Given the description of an element on the screen output the (x, y) to click on. 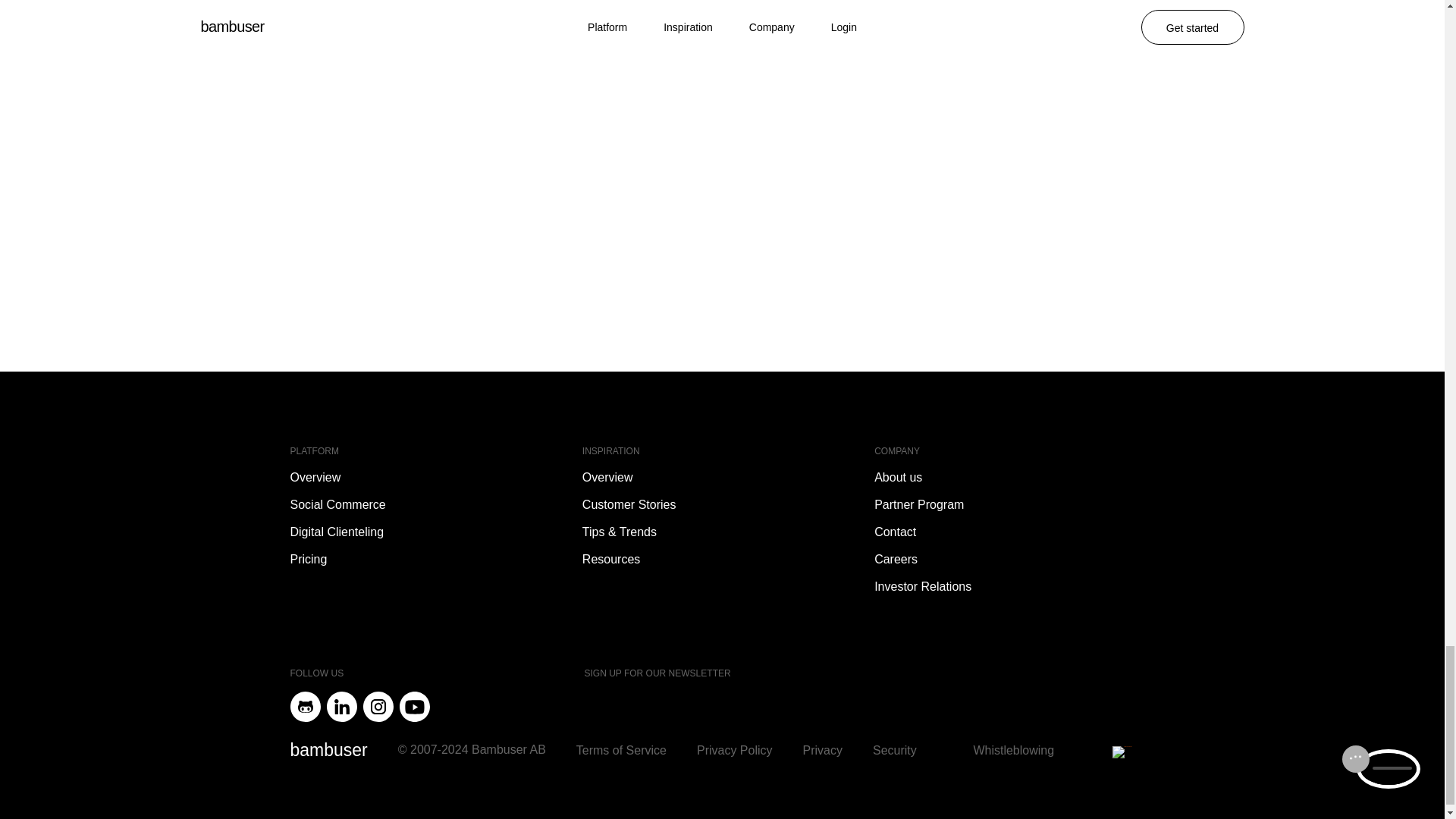
Customer Stories (629, 504)
Pricing (307, 559)
About us (898, 477)
Overview (314, 477)
Digital Clienteling (336, 531)
Overview (607, 477)
Contact (895, 531)
Resources (611, 559)
Social Commerce (337, 504)
Partner Program (919, 504)
